Given the description of an element on the screen output the (x, y) to click on. 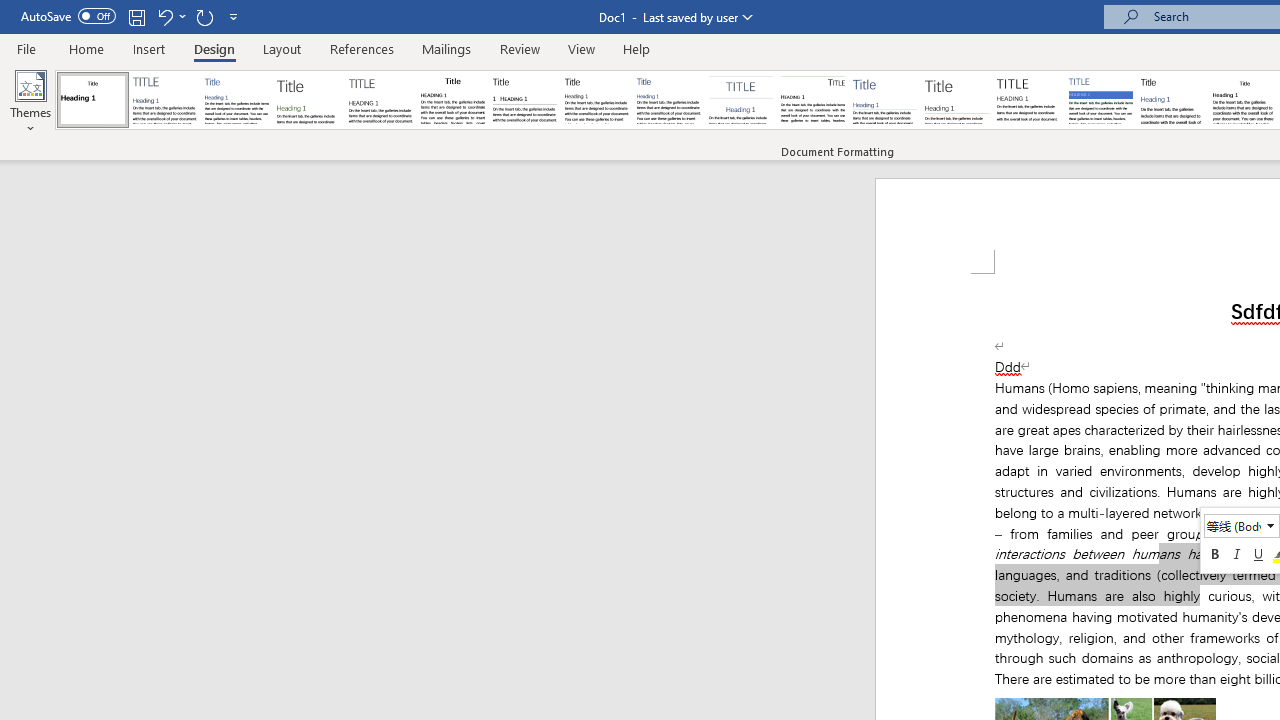
Centered (740, 100)
Class: NetUIComboboxAnchor (1242, 525)
Undo Italic (164, 15)
Black & White (Capitalized) (381, 100)
Black & White (Numbered) (524, 100)
Basic (Elegant) (164, 100)
Repeat Italic (204, 15)
Document (93, 100)
Casual (669, 100)
Black & White (Word 2013) (596, 100)
